Given the description of an element on the screen output the (x, y) to click on. 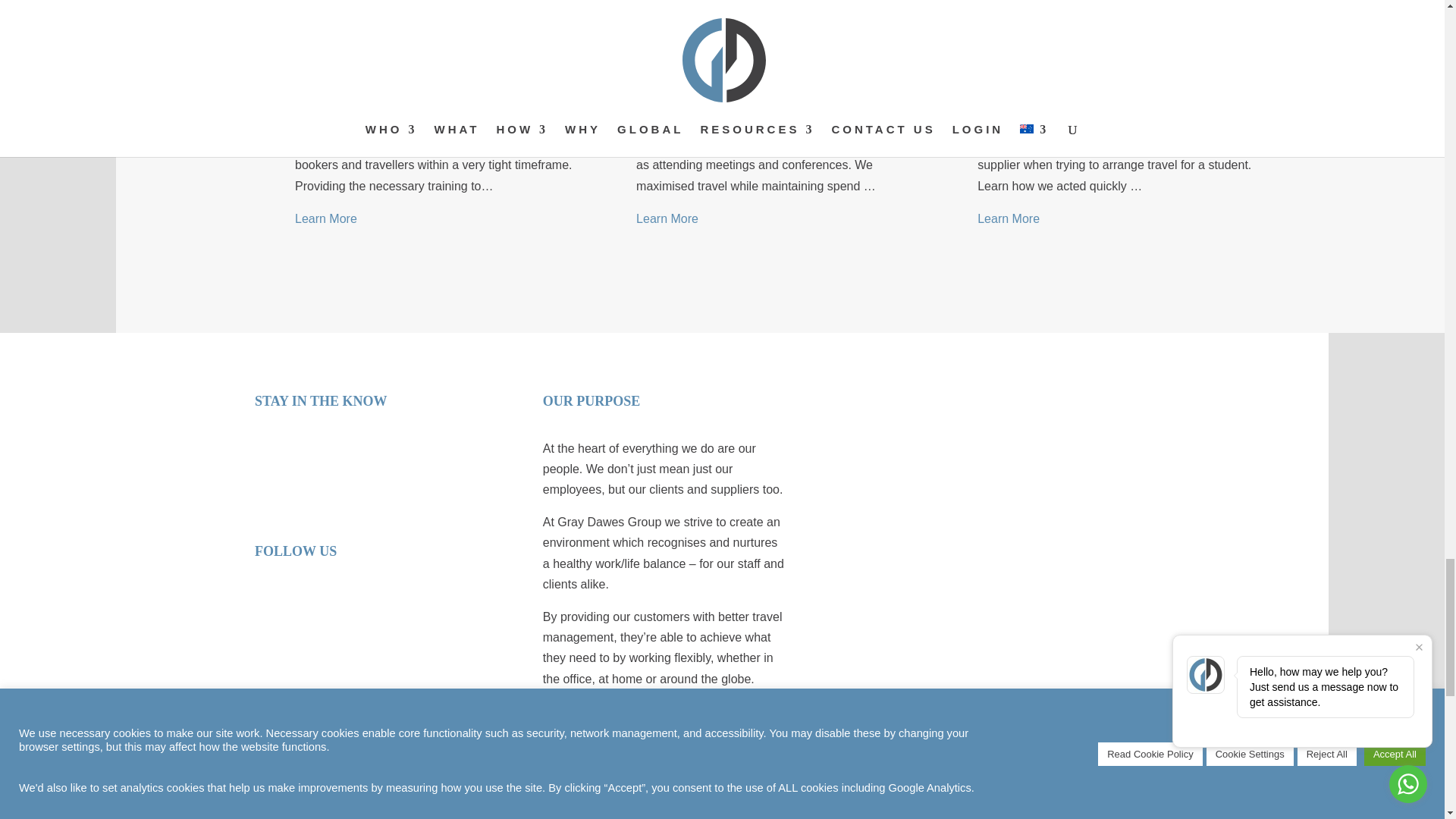
Gray Dawes Travel Facebook (387, 626)
Gray Dawes Travel Twitter (334, 626)
Gray Dawes Travel LinkedIn (280, 626)
Gray Dawes Travel Instagram (440, 626)
